Given the description of an element on the screen output the (x, y) to click on. 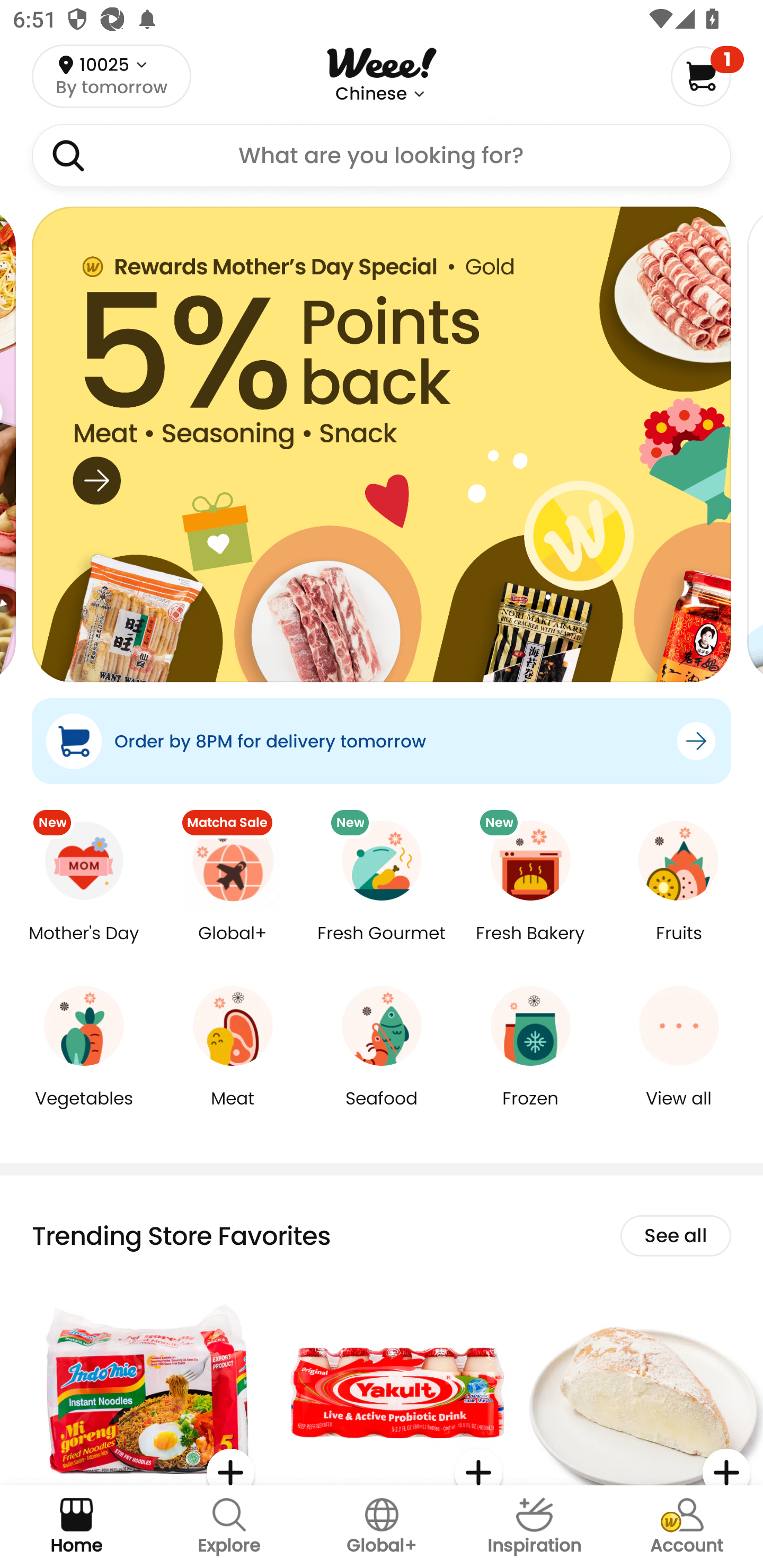
10025 By tomorrow (111, 75)
1 (706, 75)
Chinese (370, 93)
What are you looking for? (381, 155)
Order by 8PM for delivery tomorrow (381, 740)
Mother's Day (83, 946)
Global+ (232, 946)
Fresh Gourmet (381, 946)
Fresh Bakery (530, 946)
Fruits (678, 946)
Vegetables (83, 1111)
Meat (232, 1111)
Seafood (381, 1111)
Frozen (530, 1111)
View all (678, 1111)
Home (76, 1526)
Explore (228, 1526)
Global+ (381, 1526)
Inspiration (533, 1526)
Account (686, 1526)
